Given the description of an element on the screen output the (x, y) to click on. 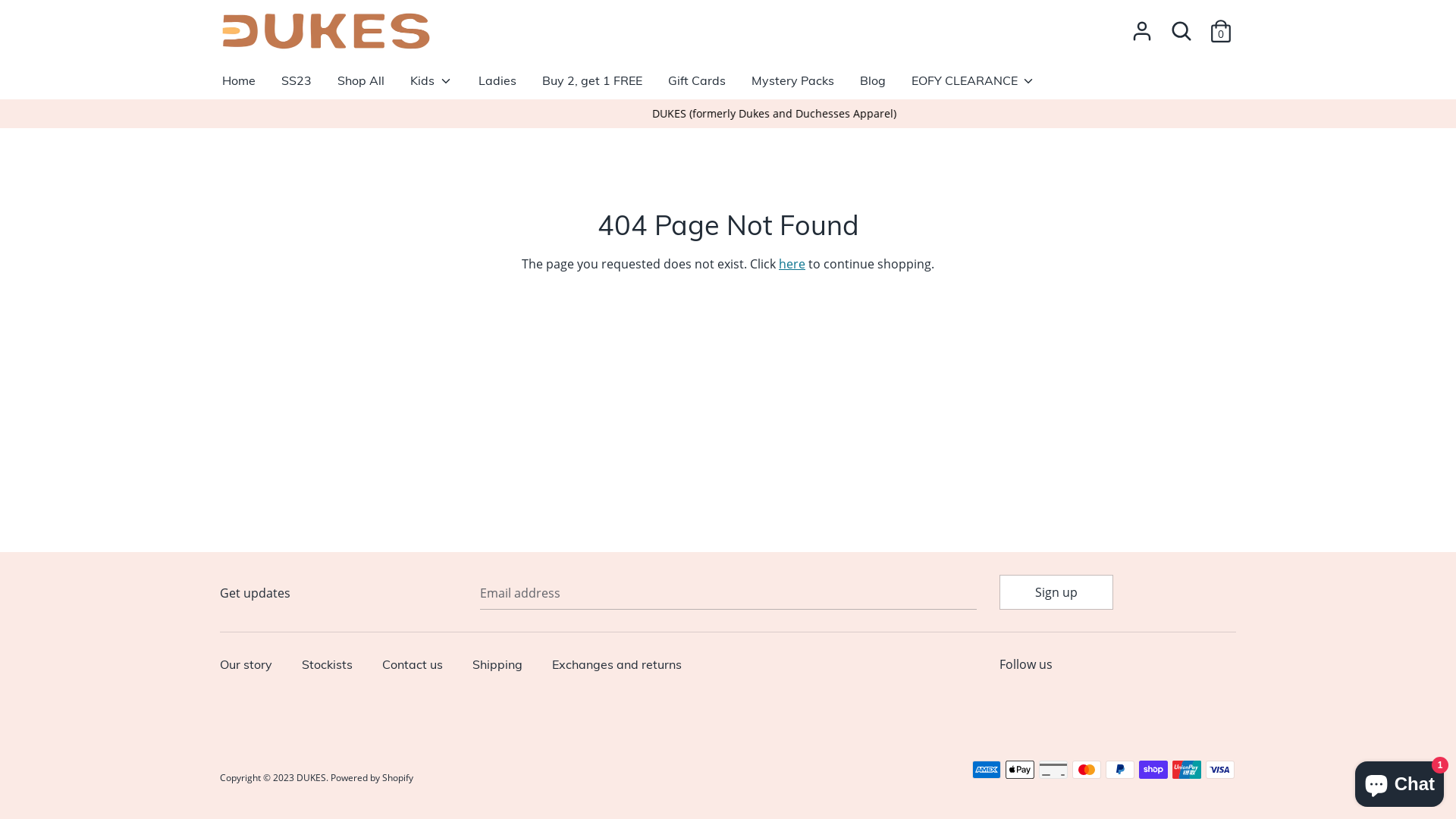
Exchanges and returns Element type: text (624, 666)
Kids Element type: text (431, 85)
Mystery Packs Element type: text (792, 85)
here Element type: text (791, 263)
Contact us Element type: text (420, 666)
SS23 Element type: text (296, 85)
Our story Element type: text (253, 666)
Shop All Element type: text (360, 85)
Shipping Element type: text (504, 666)
Powered by Shopify Element type: text (371, 777)
DUKES Element type: text (311, 777)
Shopify online store chat Element type: hover (1399, 780)
Search Element type: text (1181, 30)
EOFY CLEARANCE Element type: text (973, 85)
Sign up Element type: text (1055, 591)
0 Element type: text (1220, 24)
Ladies Element type: text (497, 85)
Home Element type: text (238, 85)
Gift Cards Element type: text (696, 85)
Buy 2, get 1 FREE Element type: text (591, 85)
Buy 2, get 1 FREE - Code: BUY2 Element type: text (676, 113)
Blog Element type: text (872, 85)
Stockists Element type: text (334, 666)
